Given the description of an element on the screen output the (x, y) to click on. 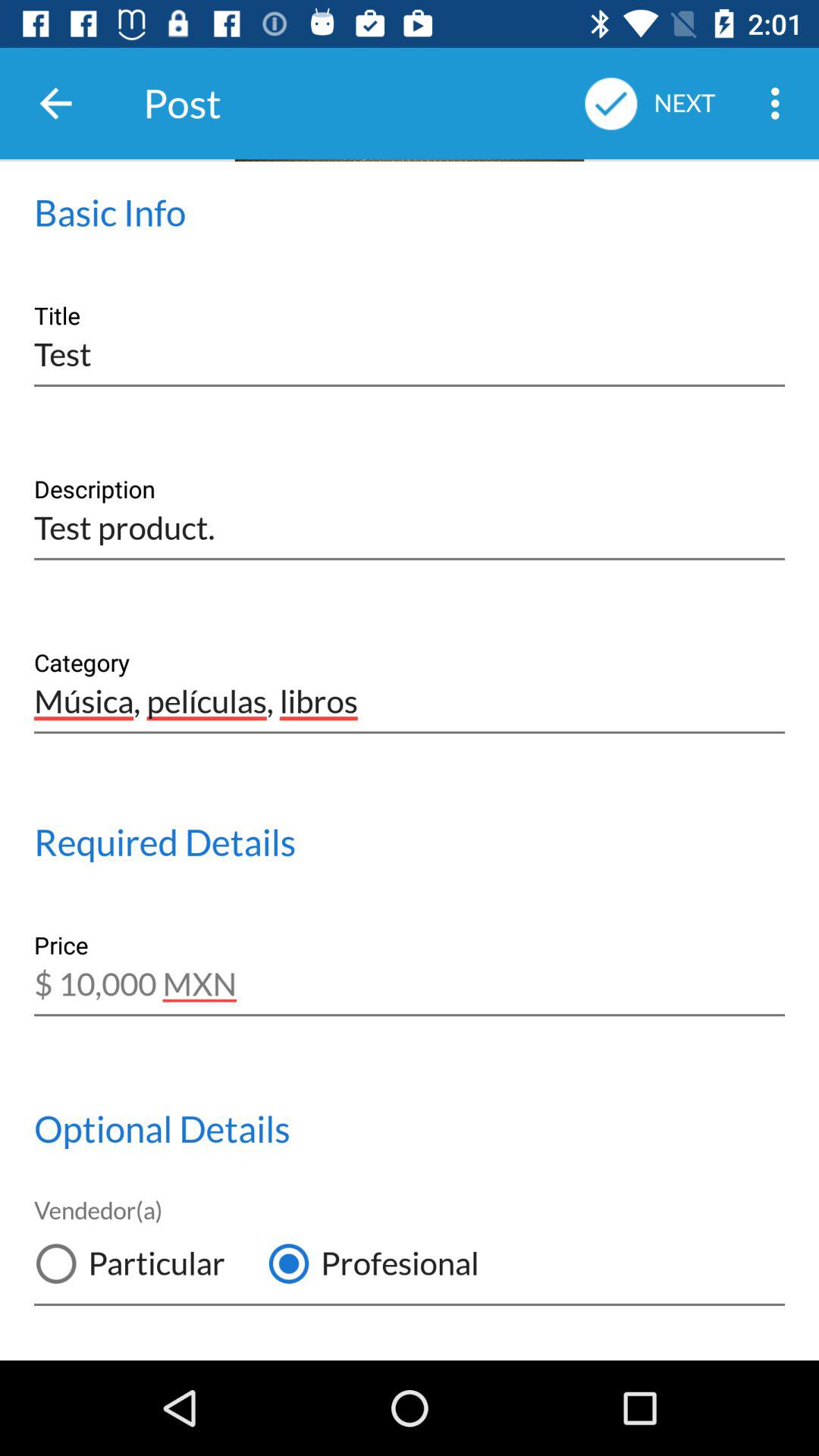
select the option below required details (409, 974)
